Given the description of an element on the screen output the (x, y) to click on. 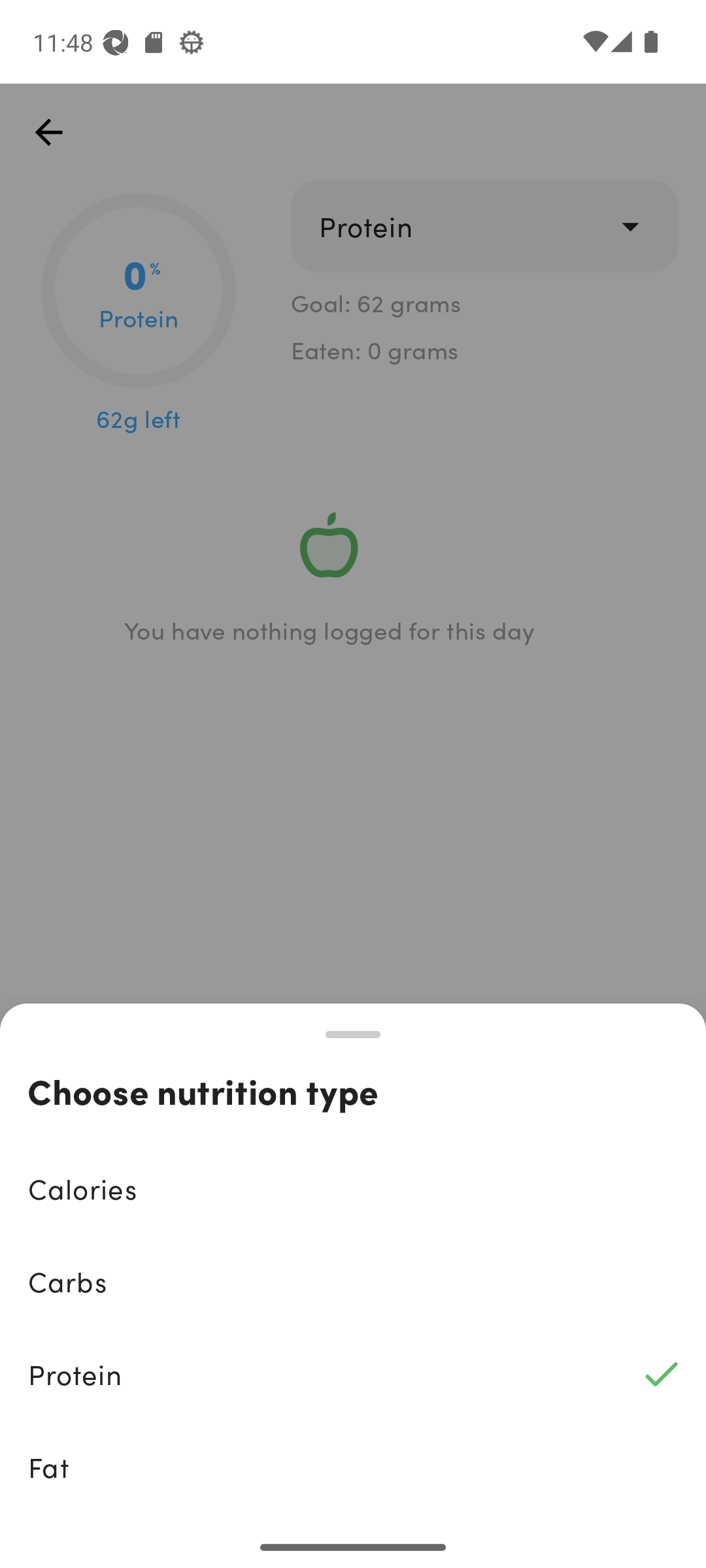
bottom_sheet_option Carbs bottom_sheet_option_text (353, 1281)
bottom_sheet_option Fat bottom_sheet_option_text (353, 1466)
